Given the description of an element on the screen output the (x, y) to click on. 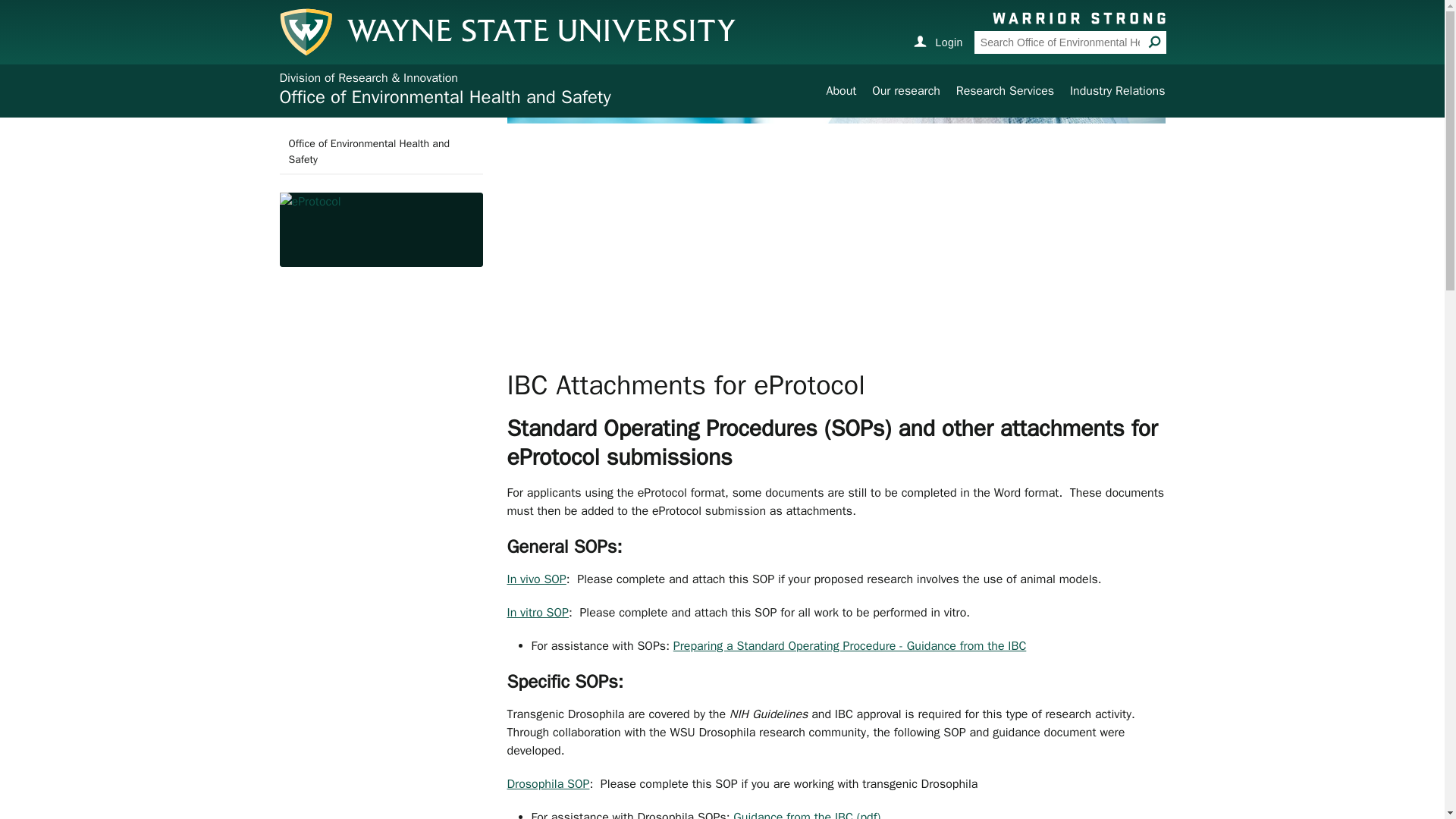
Search (1154, 41)
Industry Relations (1118, 90)
Research Services (1005, 90)
Login (937, 41)
Drosophila SOP (547, 783)
Our research (906, 90)
In vivo SOP (536, 579)
In vitro SOP (536, 612)
Office of Environmental Health and Safety (444, 96)
About (840, 90)
Office of Environmental Health and Safety (380, 151)
